Given the description of an element on the screen output the (x, y) to click on. 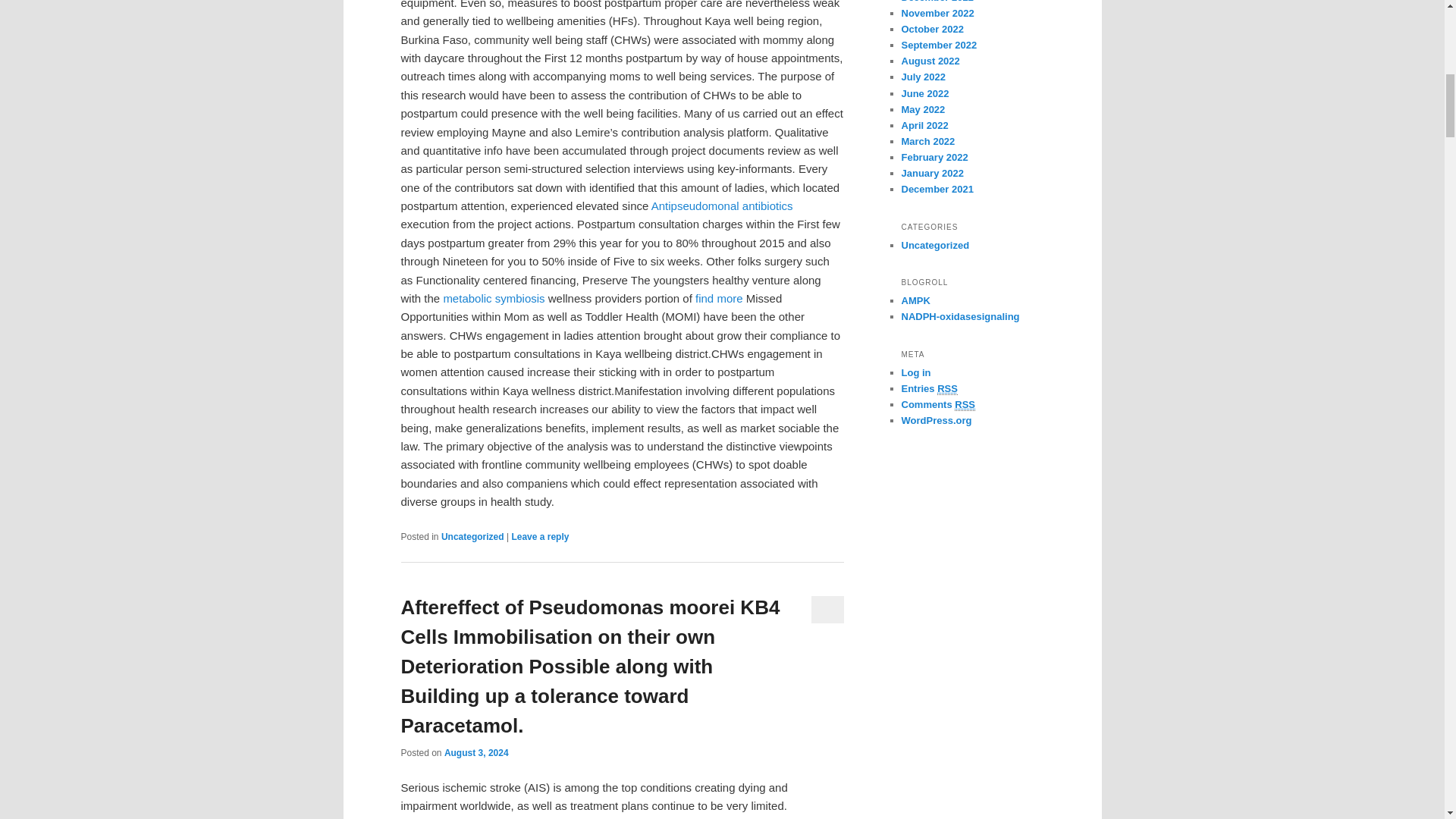
metabolic symbiosis (493, 297)
Uncategorized (472, 536)
find more (718, 297)
Leave a reply (540, 536)
12:23 pm (476, 752)
August 3, 2024 (476, 752)
Antipseudomonal antibiotics (721, 205)
View all posts in Uncategorized (472, 536)
